Given the description of an element on the screen output the (x, y) to click on. 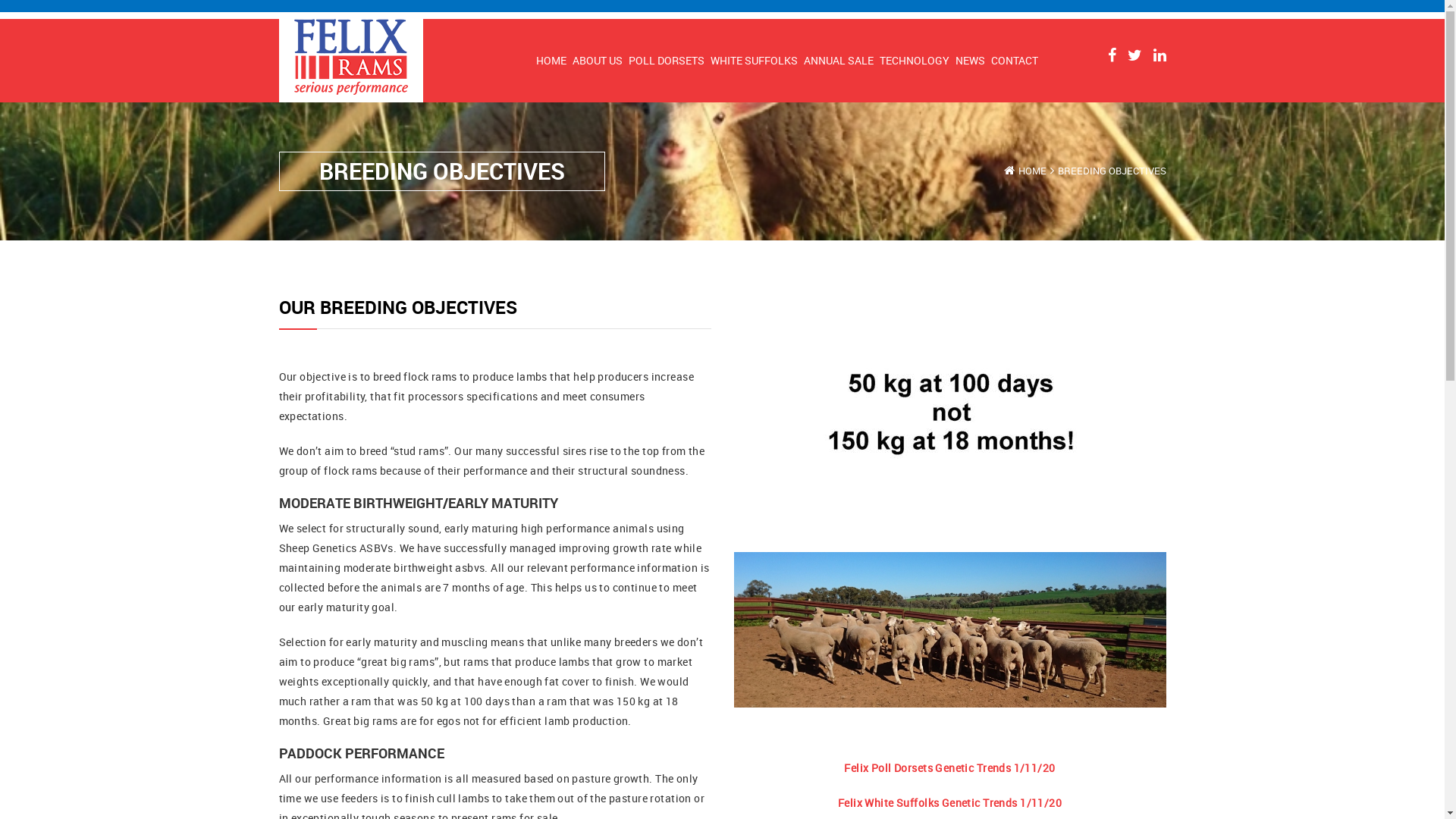
Felix Poll Dorsets Genetic Trends 1/11/20 Element type: text (949, 767)
ANNUAL SALE Element type: text (838, 60)
ABOUT US Element type: text (596, 60)
CONTACT Element type: text (1013, 60)
Felix White Suffolks Genetic Trends 1/11/20 Element type: text (949, 802)
Serious Performance Element type: hover (351, 59)
HOME Element type: text (1031, 170)
NEWS Element type: text (970, 60)
HOME Element type: text (550, 60)
WHITE SUFFOLKS Element type: text (753, 60)
POLL DORSETS Element type: text (665, 60)
TECHNOLOGY Element type: text (914, 60)
